Given the description of an element on the screen output the (x, y) to click on. 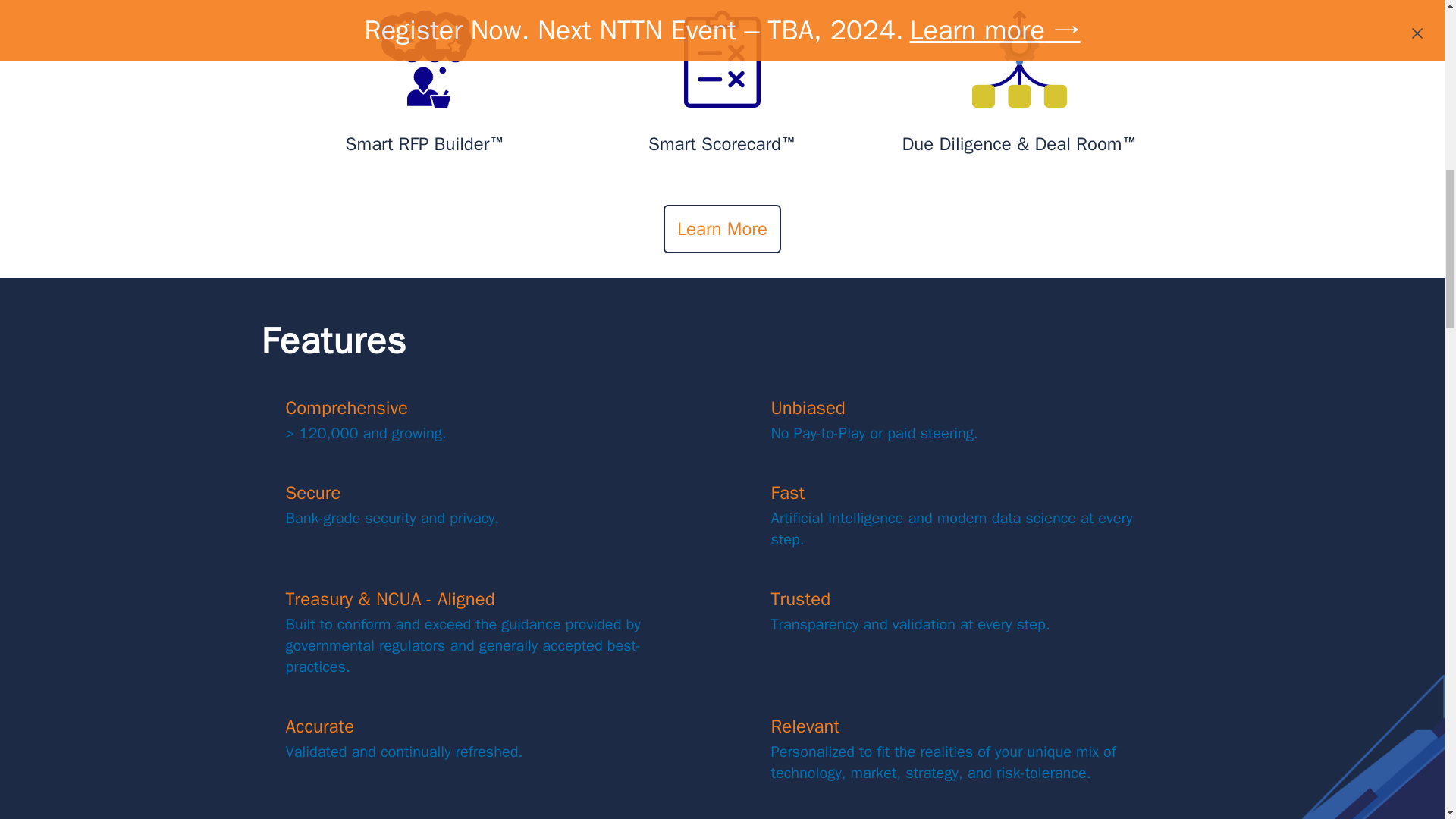
Learn More (721, 228)
